Given the description of an element on the screen output the (x, y) to click on. 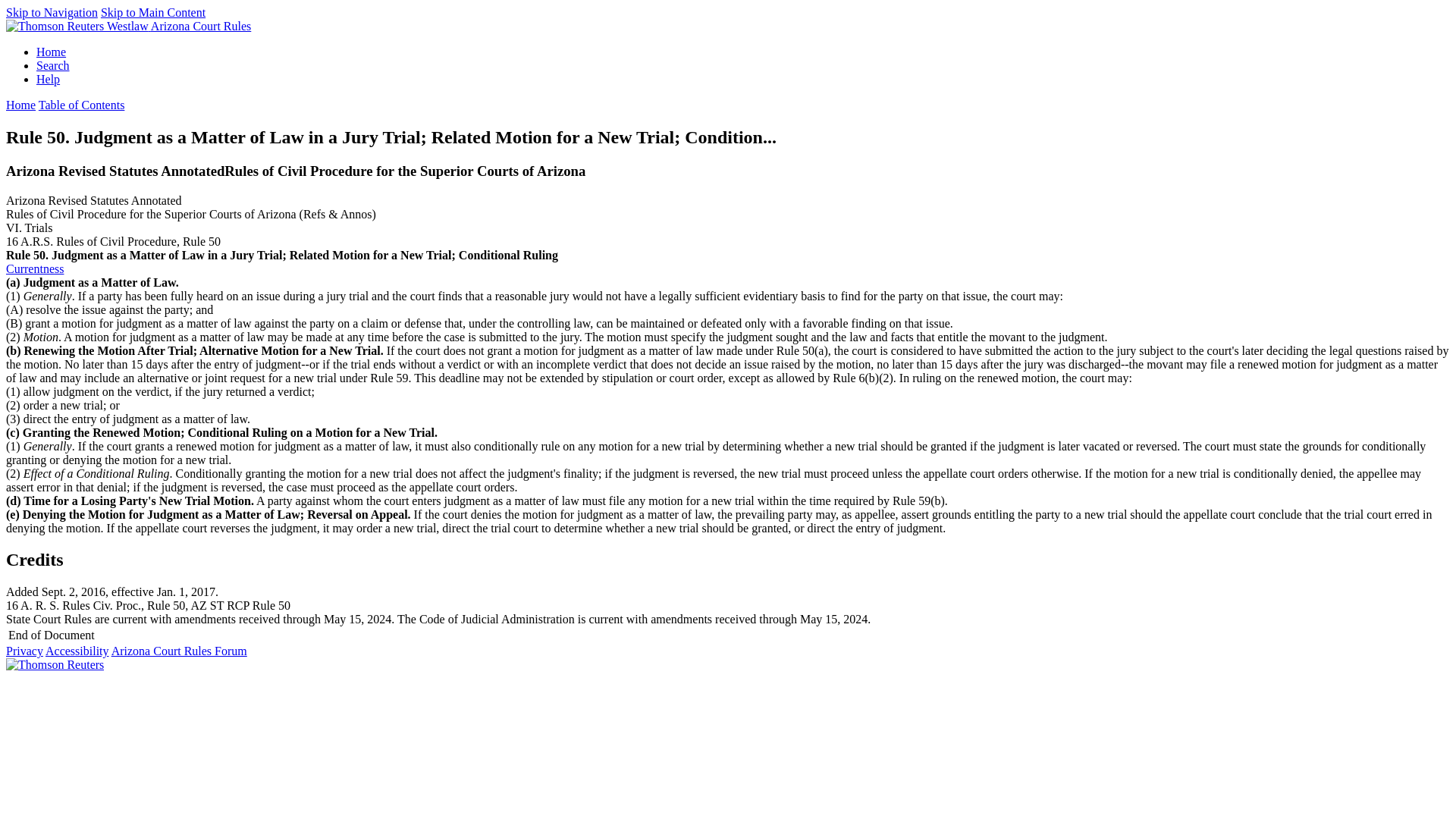
Home (50, 51)
Table of Contents (82, 104)
Accessibility (77, 650)
Search (52, 65)
Help (47, 78)
Skip to Navigation (51, 11)
Privacy (24, 650)
Arizona Court Rules (200, 25)
Arizona Court Rules Forum (179, 650)
Thomson Reuters Westlaw (78, 25)
Skip to Main Content (152, 11)
Currentness (34, 268)
Home (19, 104)
